Given the description of an element on the screen output the (x, y) to click on. 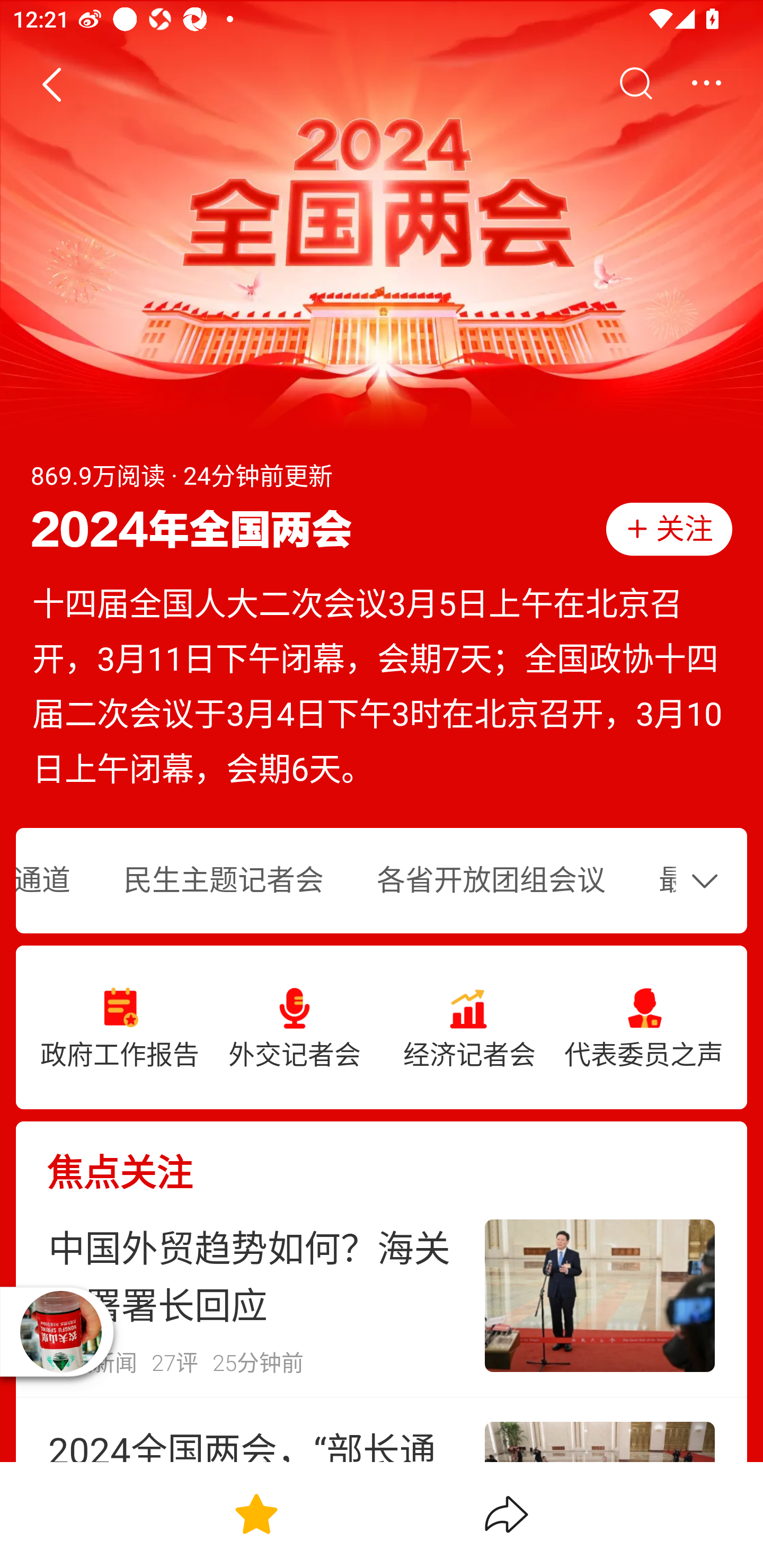
 (50, 83)
 (634, 83)
 (705, 83)
 关注 (668, 529)
代表委员通道 (56, 880)
民生主题记者会 (223, 880)
各省开放团组会议 (490, 880)
 (708, 880)
政府工作报告 (119, 1027)
外交记者会 (294, 1027)
经济记者会 (469, 1027)
代表委员之声 (643, 1027)
焦点关注 (381, 1157)
中国外贸趋势如何？海关总署署长回应 上观新闻 27评 25分钟前 (381, 1295)
收藏  (255, 1514)
分享  (506, 1514)
